Given the description of an element on the screen output the (x, y) to click on. 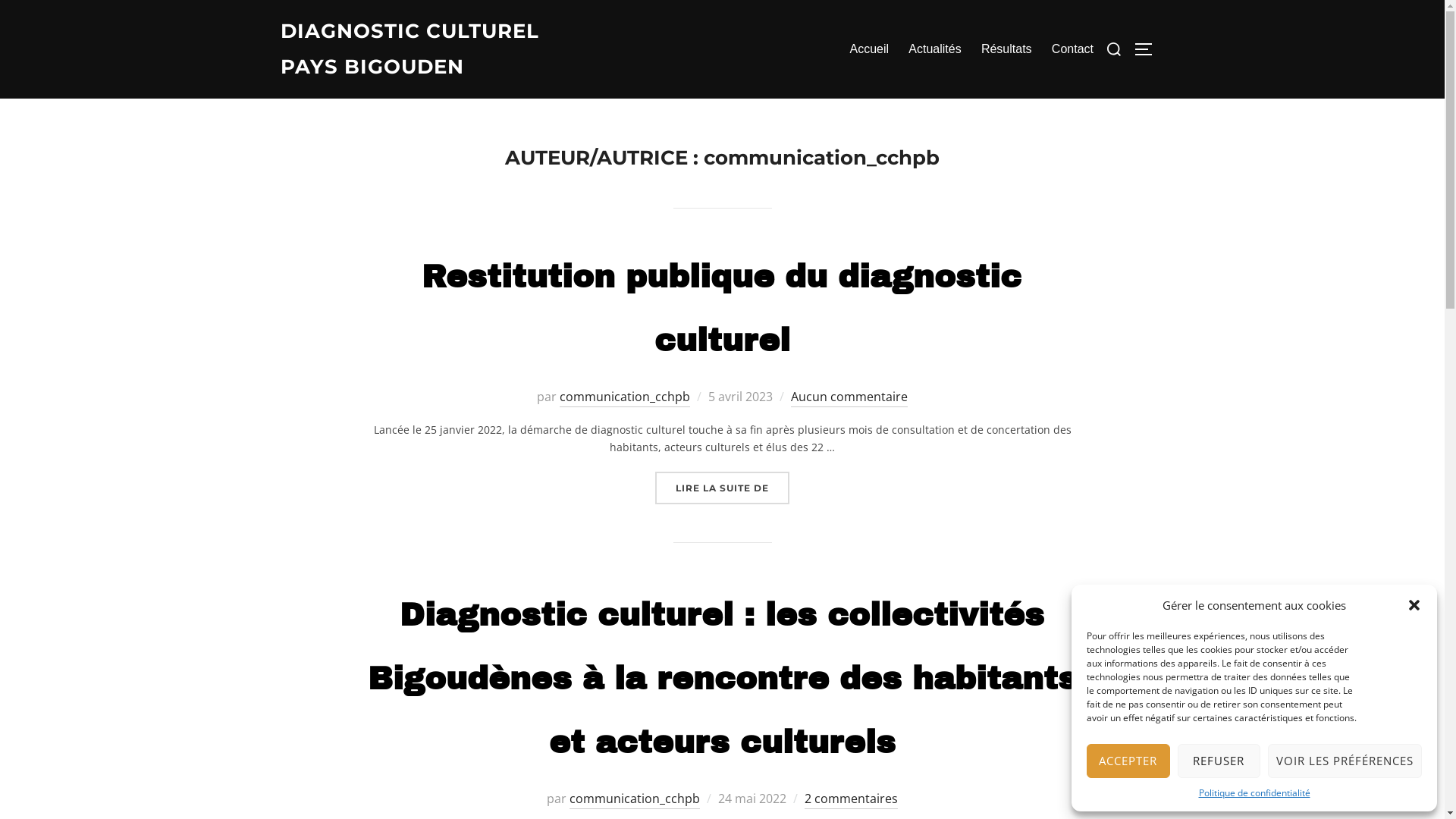
ACCEPTER Element type: text (1128, 760)
Aucun commentaire Element type: text (848, 397)
Contact Element type: text (1072, 48)
Restitution publique du diagnostic culturel Element type: text (721, 308)
DIAGNOSTIC CULTUREL PAYS BIGOUDEN Element type: text (413, 48)
REFUSER Element type: text (1218, 760)
Accueil Element type: text (868, 48)
communication_cchpb Element type: text (634, 799)
communication_cchpb Element type: text (624, 397)
2 commentaires Element type: text (850, 799)
